Given the description of an element on the screen output the (x, y) to click on. 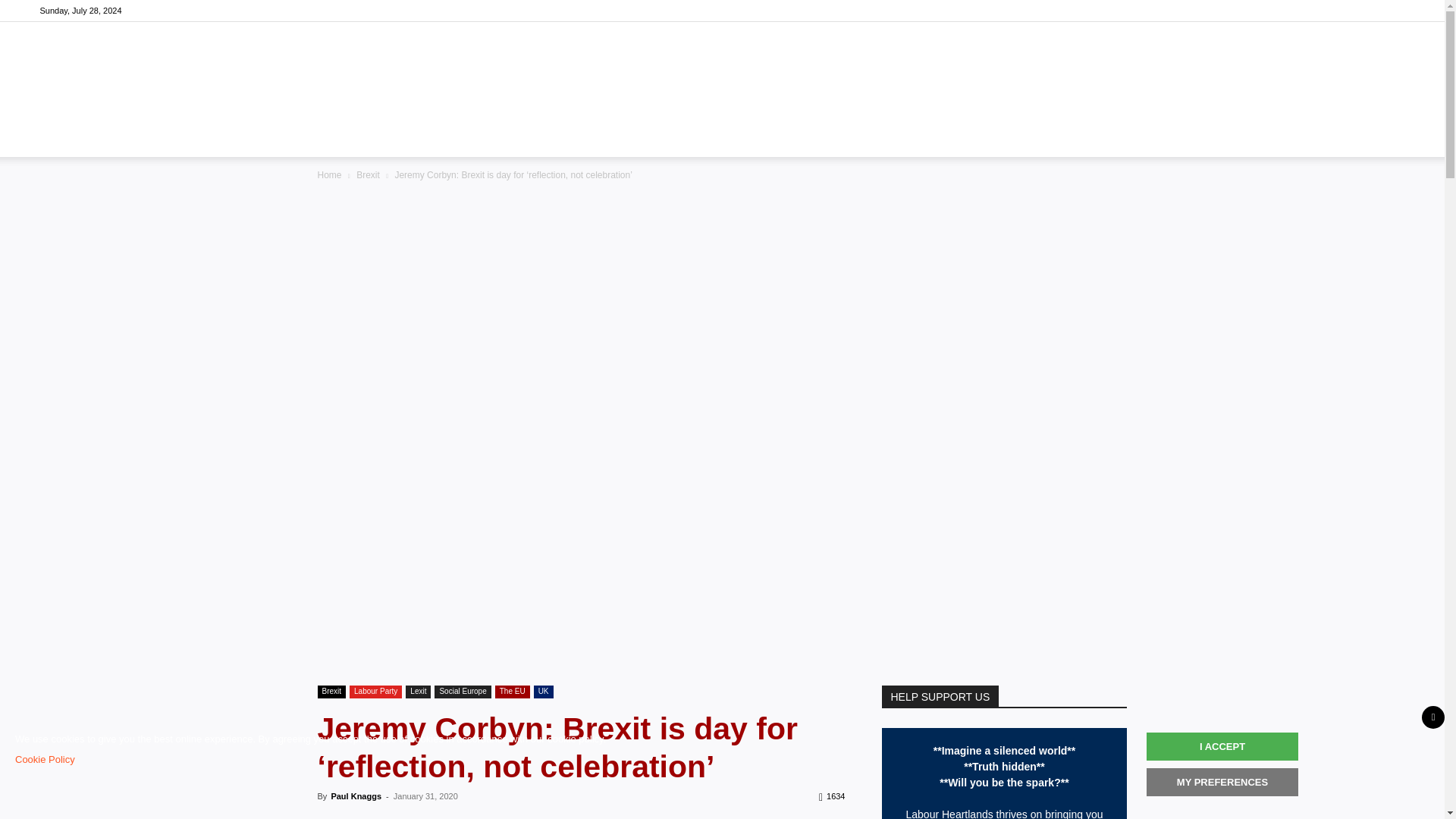
POLITICS (472, 138)
topFacebookLike (430, 817)
View all posts in Brexit (368, 174)
HOME (404, 138)
